Given the description of an element on the screen output the (x, y) to click on. 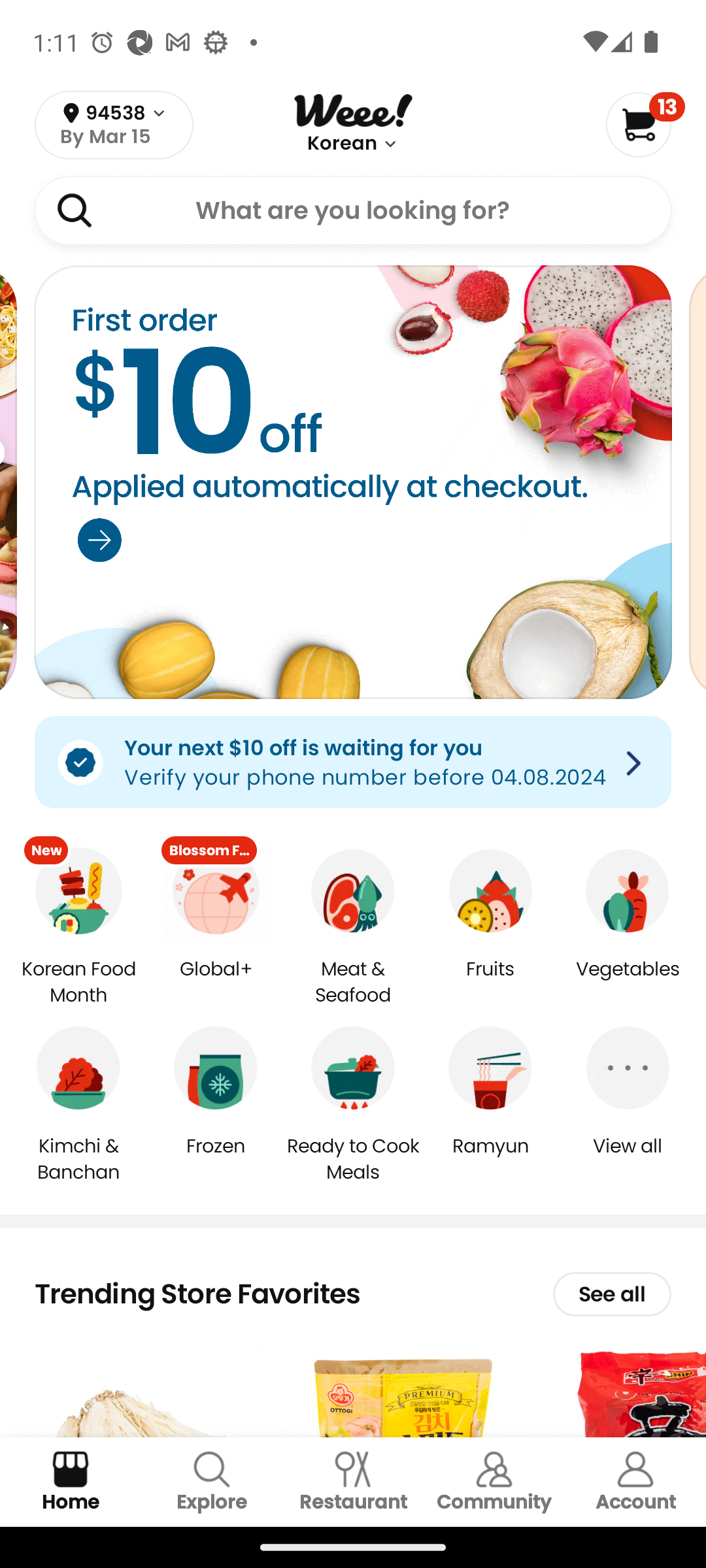
94538 By Mar 15 (113, 124)
13 (644, 124)
Korean (342, 143)
What are you looking for? (352, 209)
Korean Food Month (77, 982)
Global+ (215, 982)
Meat & Seafood (352, 982)
Fruits (490, 982)
Vegetables (627, 982)
Kimchi & Banchan (77, 1158)
Frozen (215, 1159)
Ready to Cook Meals (352, 1158)
Ramyun (490, 1159)
View all (627, 1159)
Home (70, 1482)
Explore (211, 1482)
Restaurant (352, 1482)
Community (493, 1482)
Account (635, 1482)
